Given the description of an element on the screen output the (x, y) to click on. 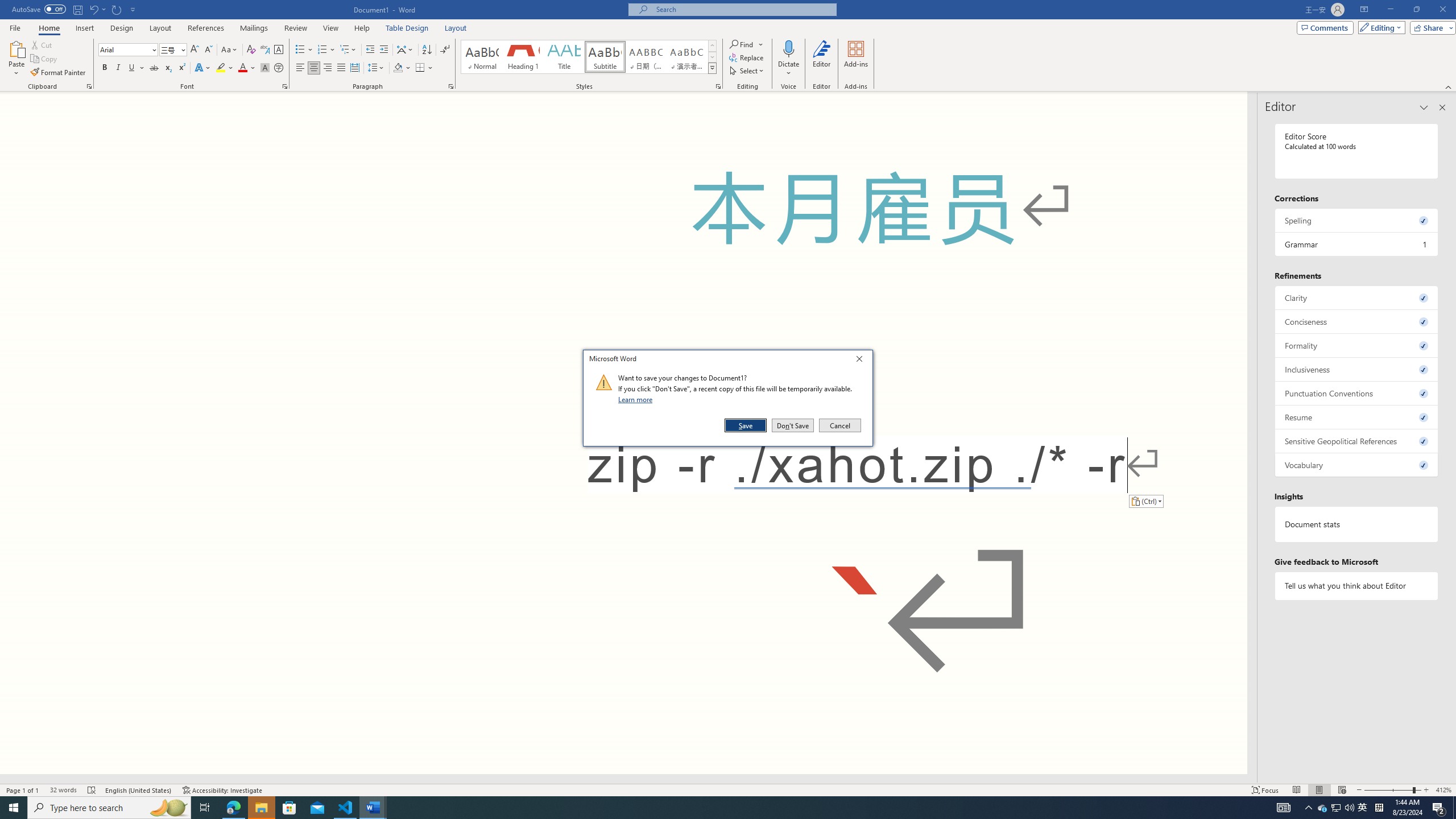
Formality, 0 issues. Press space or enter to review items. (1356, 345)
Microsoft Edge - 1 running window (233, 807)
